Given the description of an element on the screen output the (x, y) to click on. 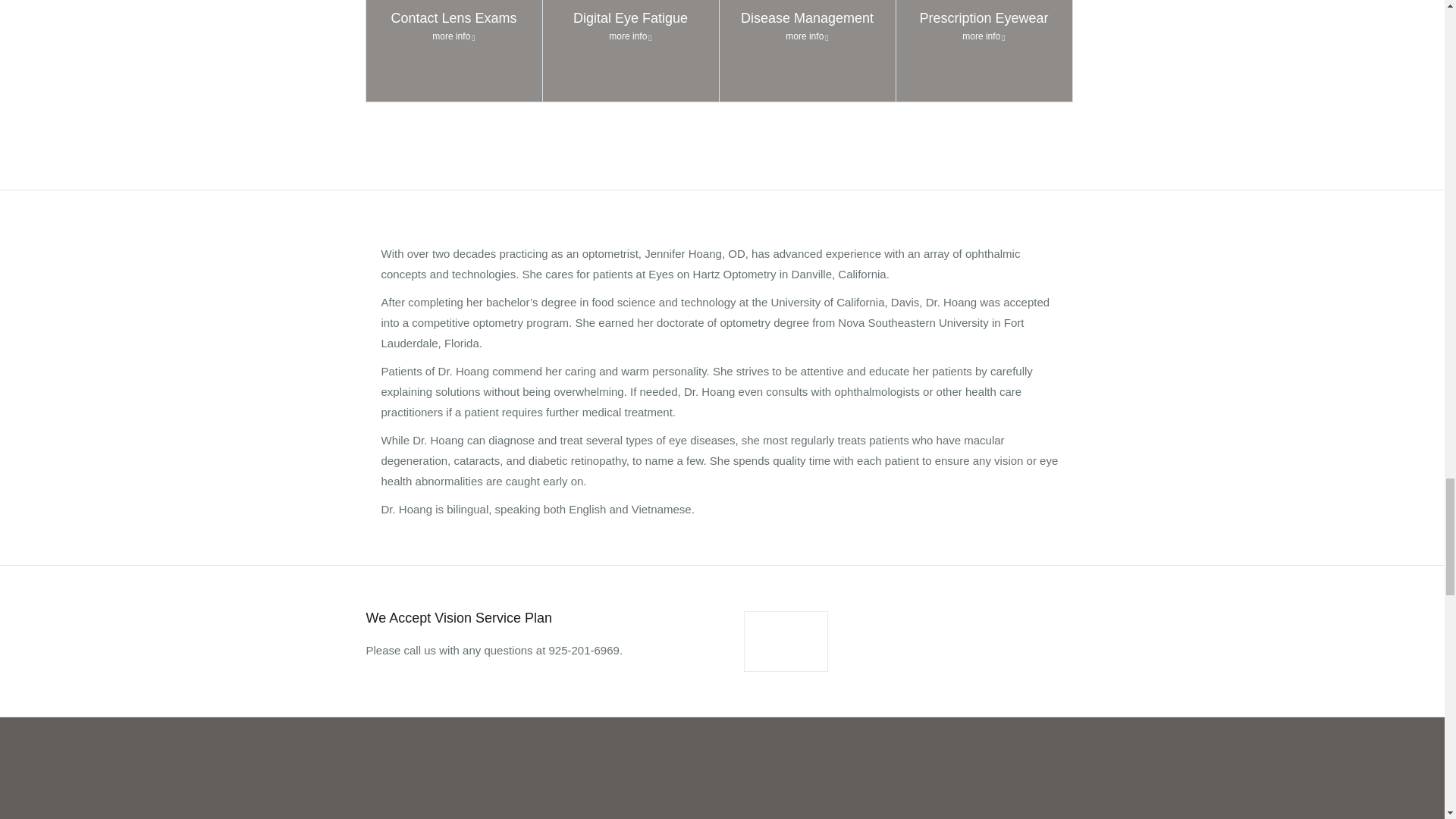
Vision Service Plan (786, 641)
